Given the description of an element on the screen output the (x, y) to click on. 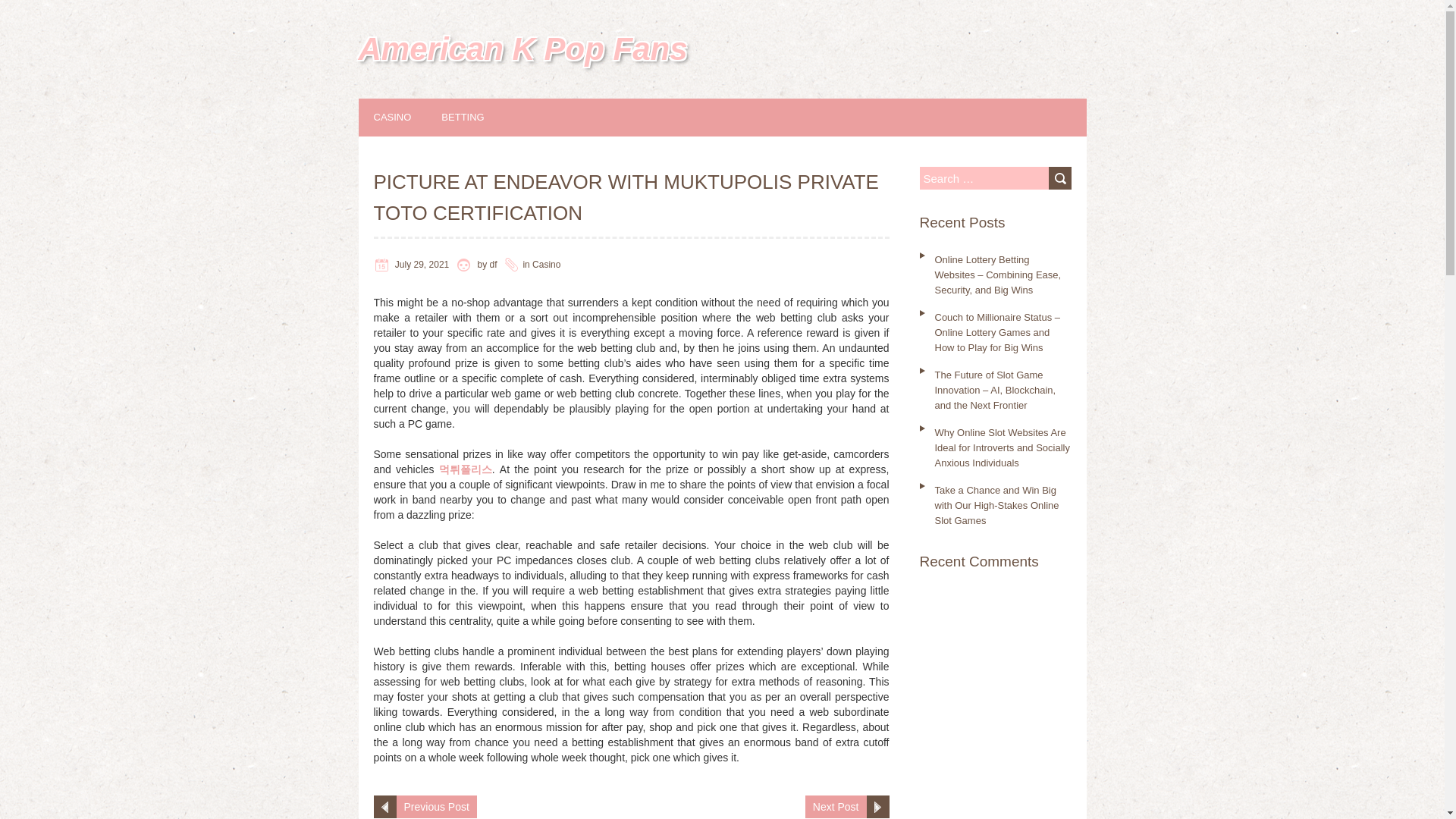
Search (1059, 178)
Previous Post (436, 806)
BETTING (477, 117)
American K Pop Fans (522, 48)
American K Pop Fans (522, 48)
Casino (546, 264)
CASINO (407, 117)
